Given the description of an element on the screen output the (x, y) to click on. 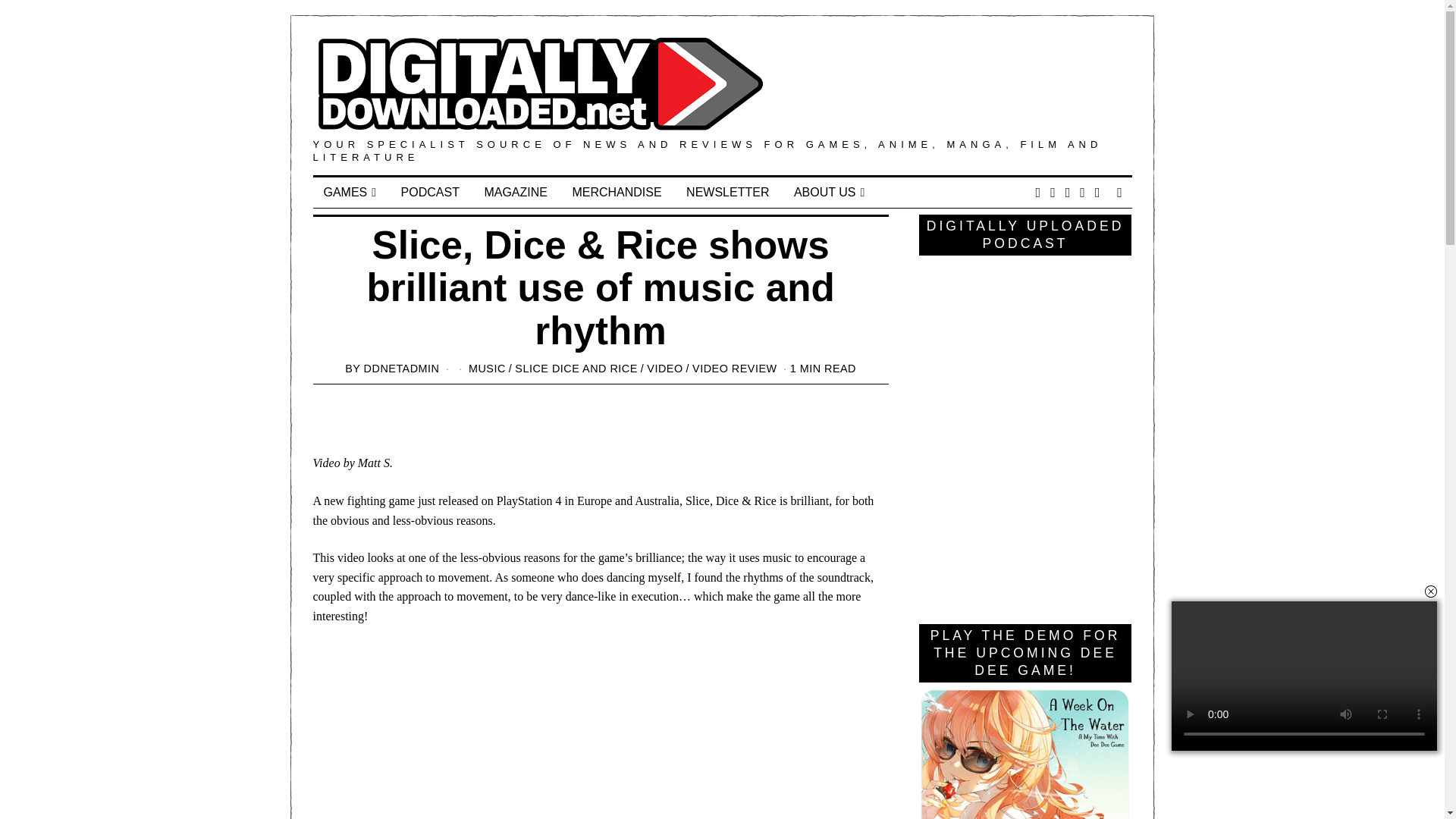
NEWSLETTER (726, 192)
MAGAZINE (515, 192)
SLICE DICE AND RICE (576, 368)
VIDEO REVIEW (735, 368)
MERCHANDISE (615, 192)
PODCAST (430, 192)
ABOUT US (829, 192)
DDNETADMIN (401, 368)
GAMES (350, 192)
MUSIC (486, 368)
VIDEO (664, 368)
